Given the description of an element on the screen output the (x, y) to click on. 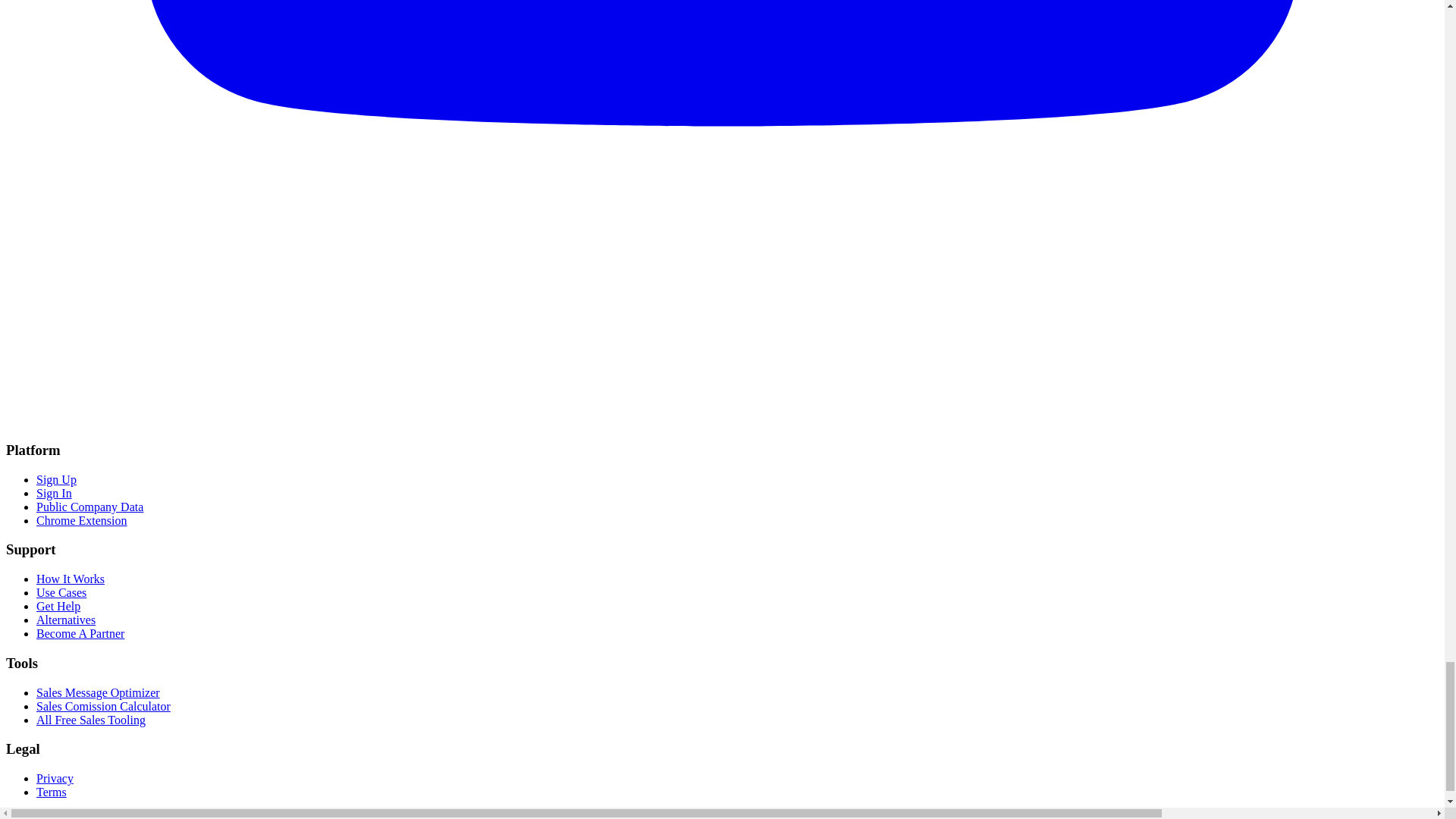
Alternatives (66, 619)
All Free Sales Tooling (90, 719)
Sales Comission Calculator (103, 706)
Sign Up (56, 479)
Sign In (53, 492)
Use Cases (60, 592)
Sales Message Optimizer (98, 692)
How It Works (70, 578)
Terms (51, 791)
